Given the description of an element on the screen output the (x, y) to click on. 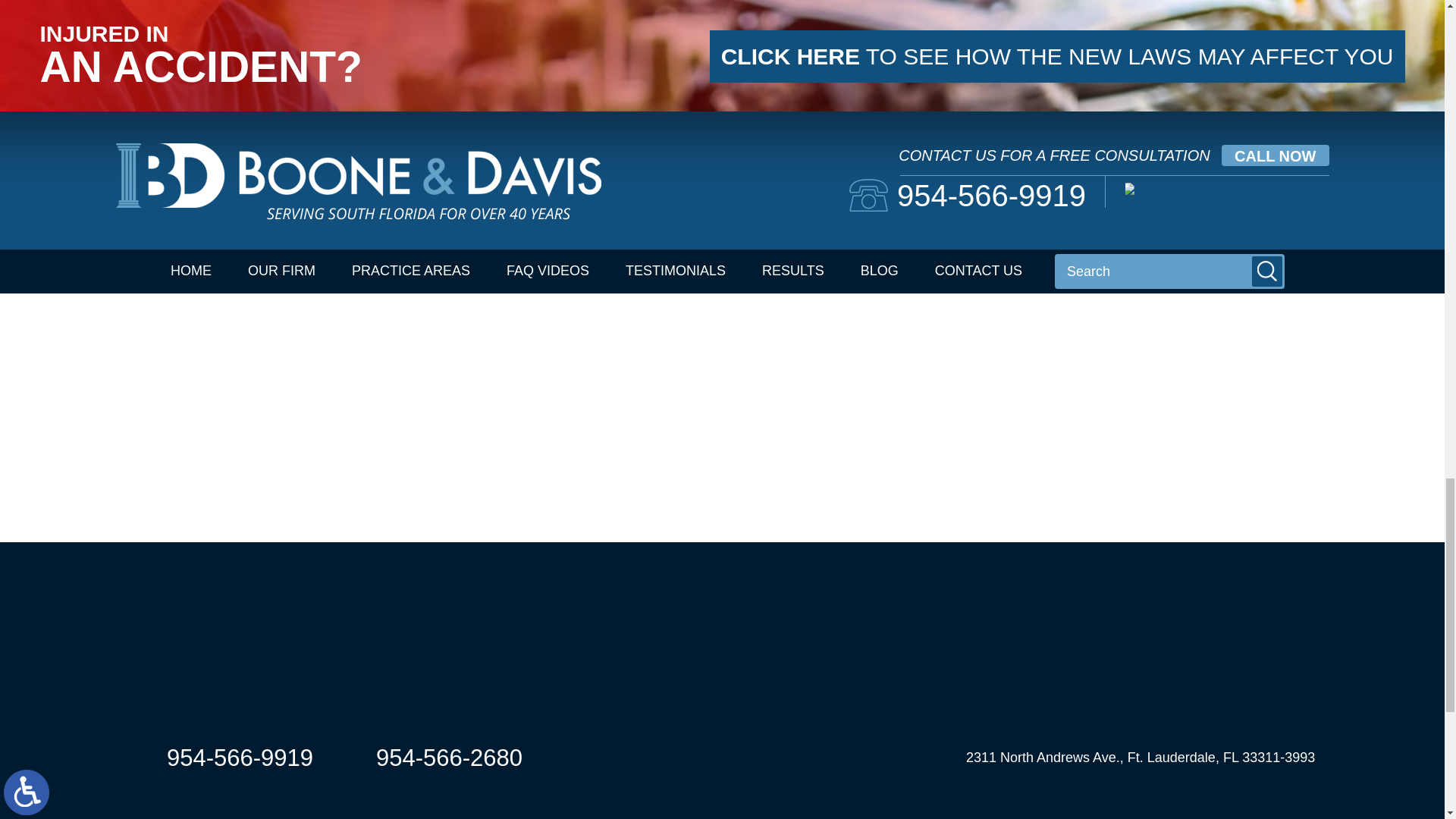
2016-10-21T06:15:50-0700 (330, 3)
